Given the description of an element on the screen output the (x, y) to click on. 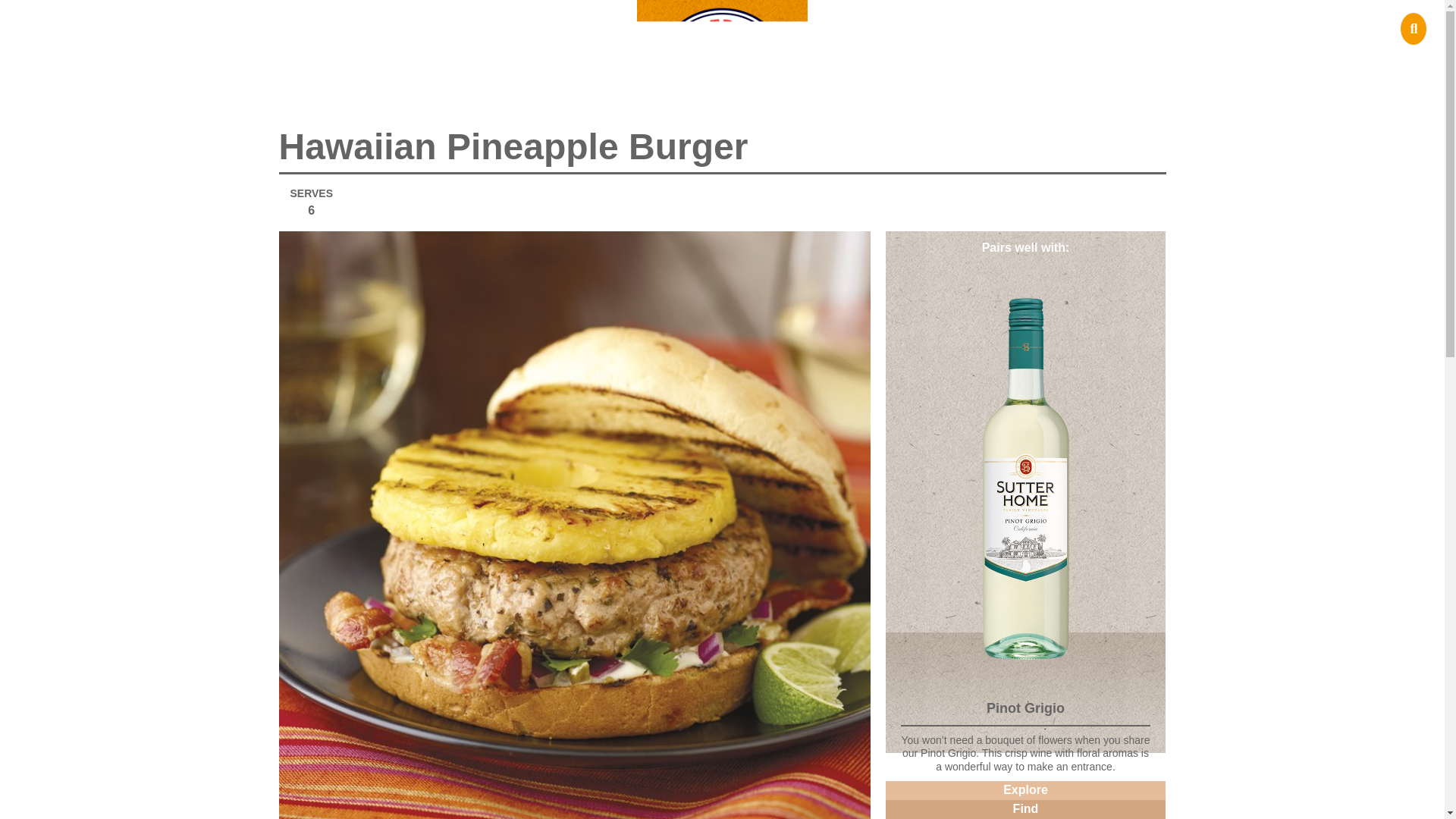
Explore (1025, 790)
Burgerbase: Since 1990 - Brought to you by Sutter Home (722, 55)
Find (1025, 809)
